Given the description of an element on the screen output the (x, y) to click on. 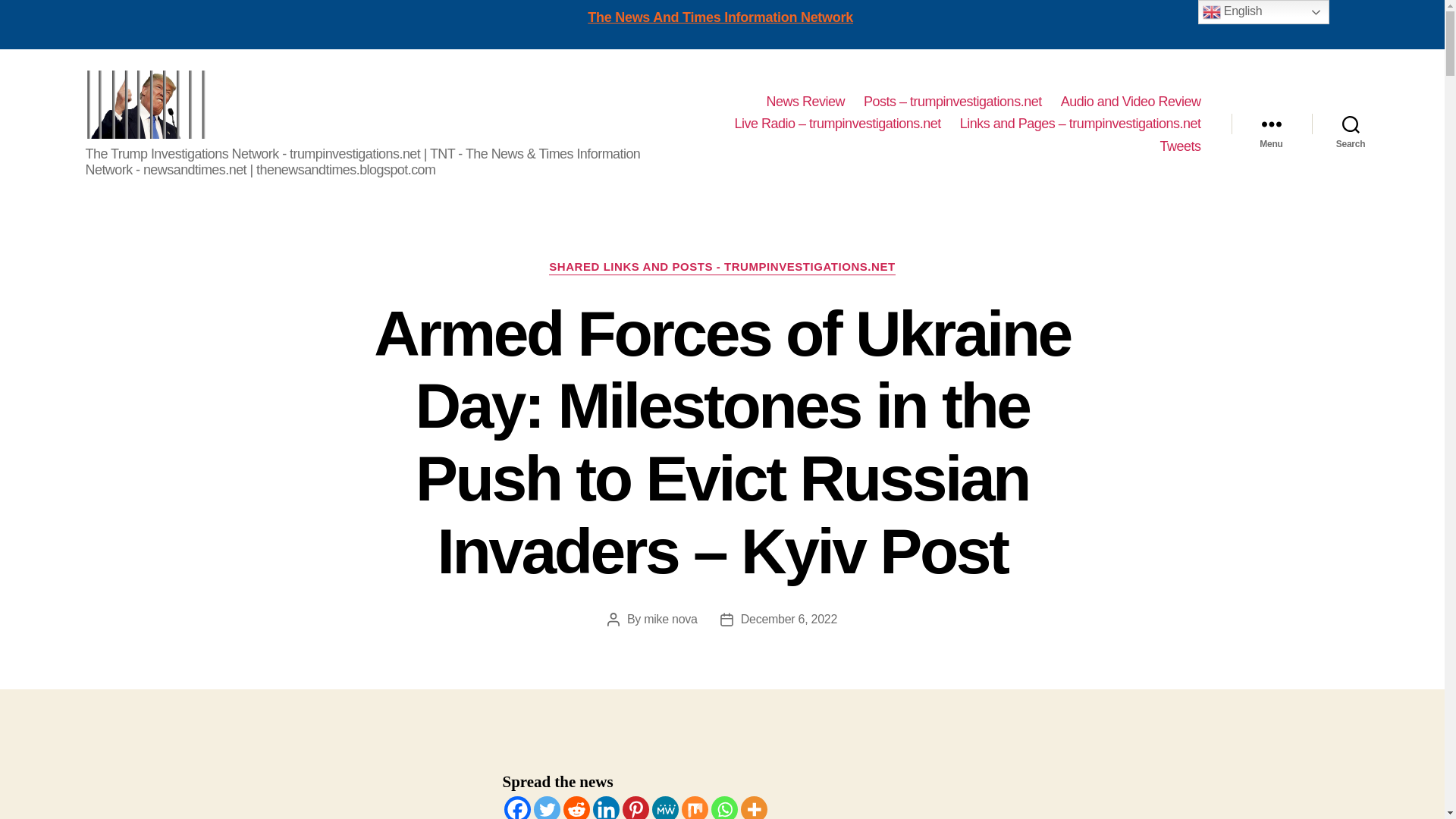
MeWe (665, 807)
Linkedin (606, 807)
Menu (1271, 123)
Whatsapp (724, 807)
The News And Times Information Network (720, 17)
SHARED LINKS AND POSTS - TRUMPINVESTIGATIONS.NET (721, 267)
Search (1350, 123)
Audio and Video Review (1131, 102)
Twitter (547, 807)
News Review (804, 102)
More (753, 807)
mike nova (670, 618)
Mix (694, 807)
Tweets (1178, 146)
December 6, 2022 (789, 618)
